Given the description of an element on the screen output the (x, y) to click on. 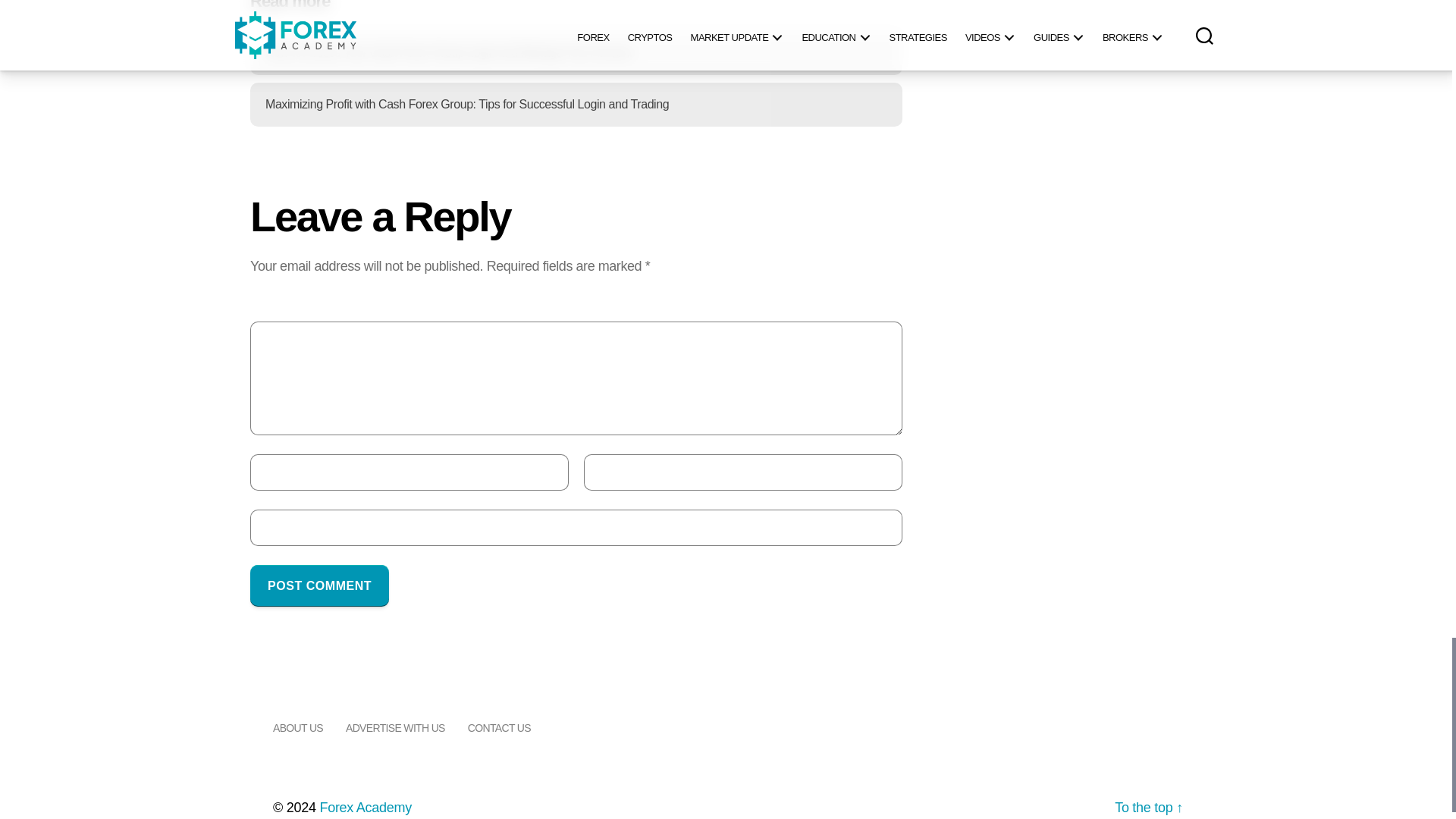
Post Comment (319, 585)
